Given the description of an element on the screen output the (x, y) to click on. 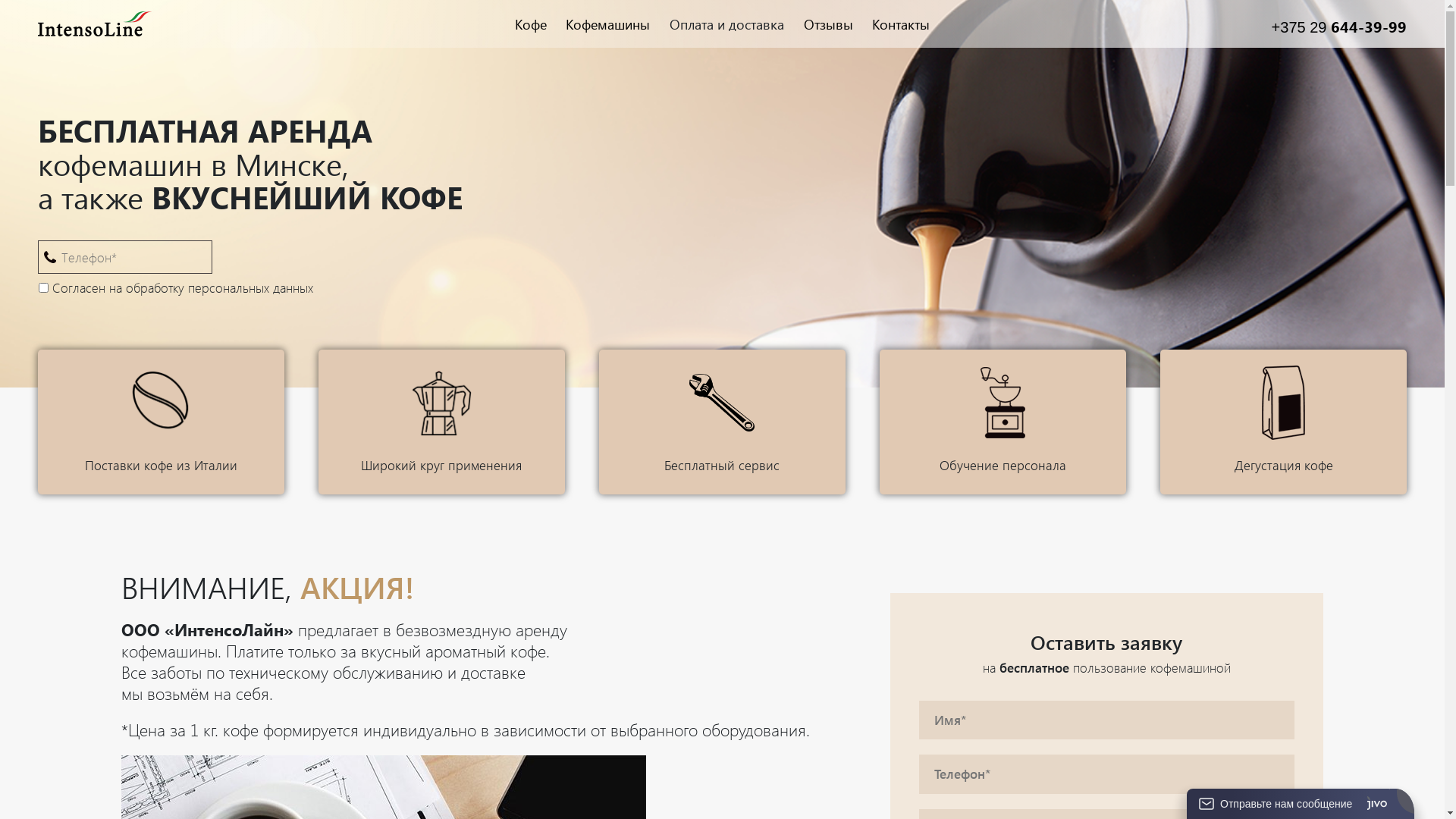
+375 29 644-39-99 Element type: text (1338, 26)
